Given the description of an element on the screen output the (x, y) to click on. 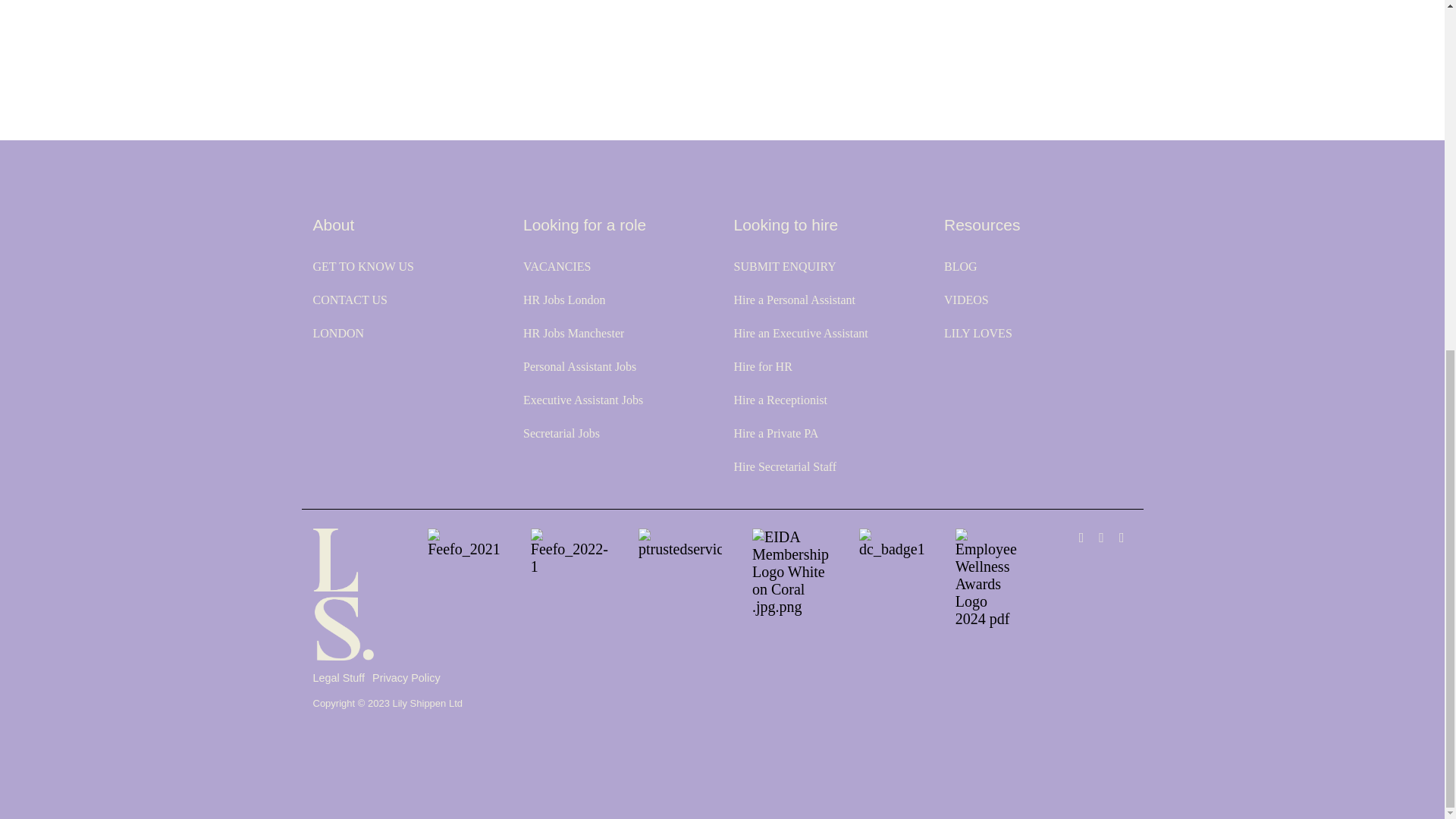
Hire Secretarial Staff (785, 466)
SUBMIT ENQUIRY (784, 266)
Executive Assistant Jobs (582, 399)
Hire a Personal Assistant (794, 299)
Secretarial Jobs (560, 433)
Personal Assistant Jobs (579, 366)
CONTACT US (350, 299)
Hire for HR (762, 366)
GET TO KNOW US (363, 266)
Hire an Executive Assistant (800, 332)
LONDON (338, 332)
HR Jobs London (563, 299)
Hire a Receptionist (780, 399)
Hire a Private PA (775, 433)
VACANCIES (556, 266)
